Given the description of an element on the screen output the (x, y) to click on. 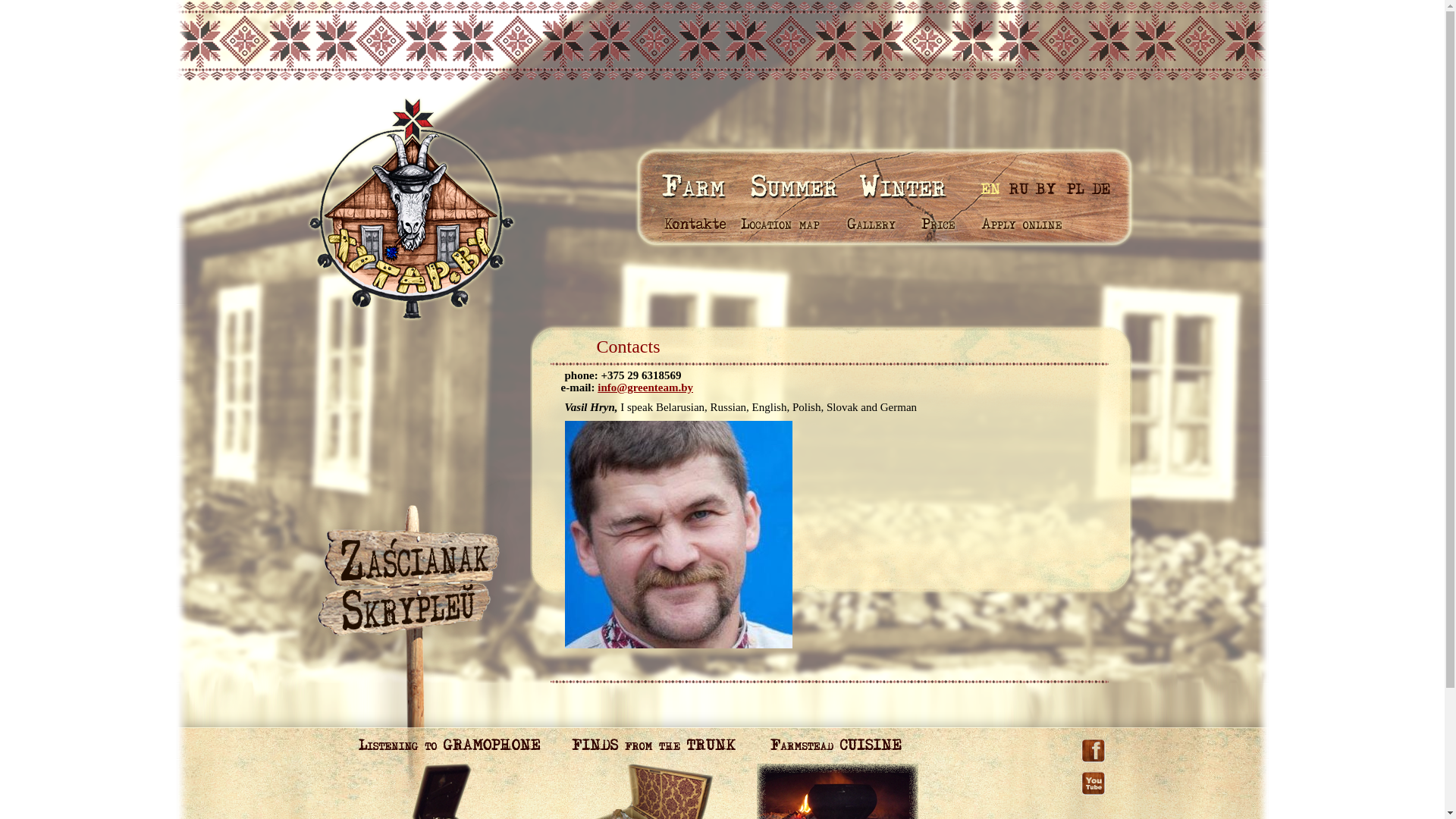
DE Element type: text (1102, 188)
EN Element type: text (991, 188)
RU Element type: text (1018, 188)
Facebook Element type: hover (1093, 744)
BY Element type: text (1044, 188)
info@greenteam.by Element type: text (645, 387)
Youtube Element type: hover (1093, 769)
PL Element type: text (1073, 188)
